Given the description of an element on the screen output the (x, y) to click on. 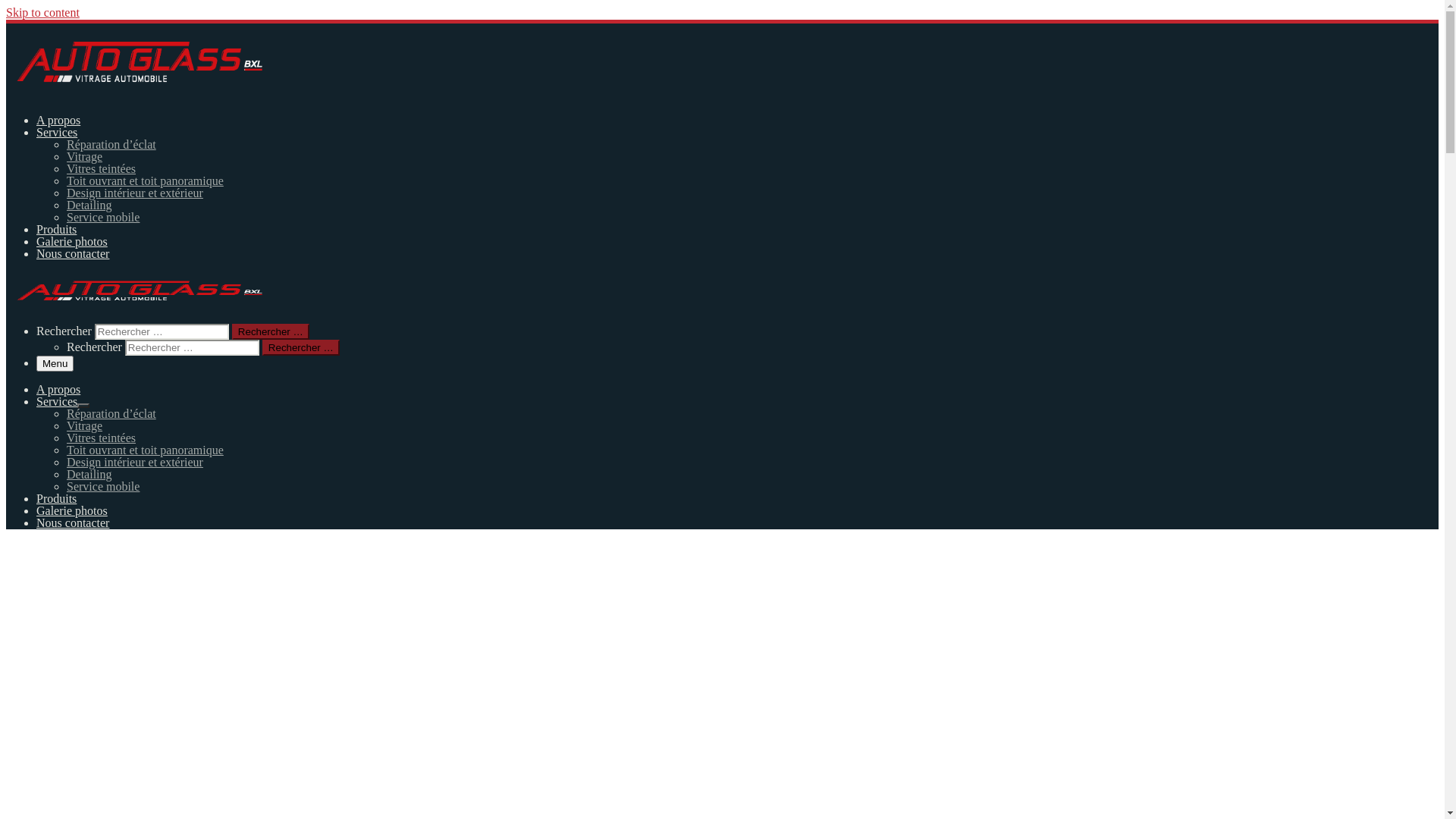
Nous contacter Element type: text (72, 253)
Produits Element type: text (56, 228)
Menu Element type: text (54, 363)
Nous contacter Element type: text (72, 522)
Service mobile Element type: text (102, 486)
Service mobile Element type: text (102, 216)
A propos Element type: text (58, 119)
Detailing Element type: text (89, 473)
Galerie photos Element type: text (71, 241)
Services Element type: text (56, 131)
Toit ouvrant et toit panoramique Element type: text (144, 449)
Galerie photos Element type: text (71, 510)
Detailing Element type: text (89, 204)
Services Element type: text (56, 401)
A propos Element type: text (58, 388)
Vitrage Element type: text (84, 425)
Vitrage Element type: text (84, 156)
Toit ouvrant et toit panoramique Element type: text (144, 180)
Produits Element type: text (56, 498)
Skip to content Element type: text (42, 12)
